Given the description of an element on the screen output the (x, y) to click on. 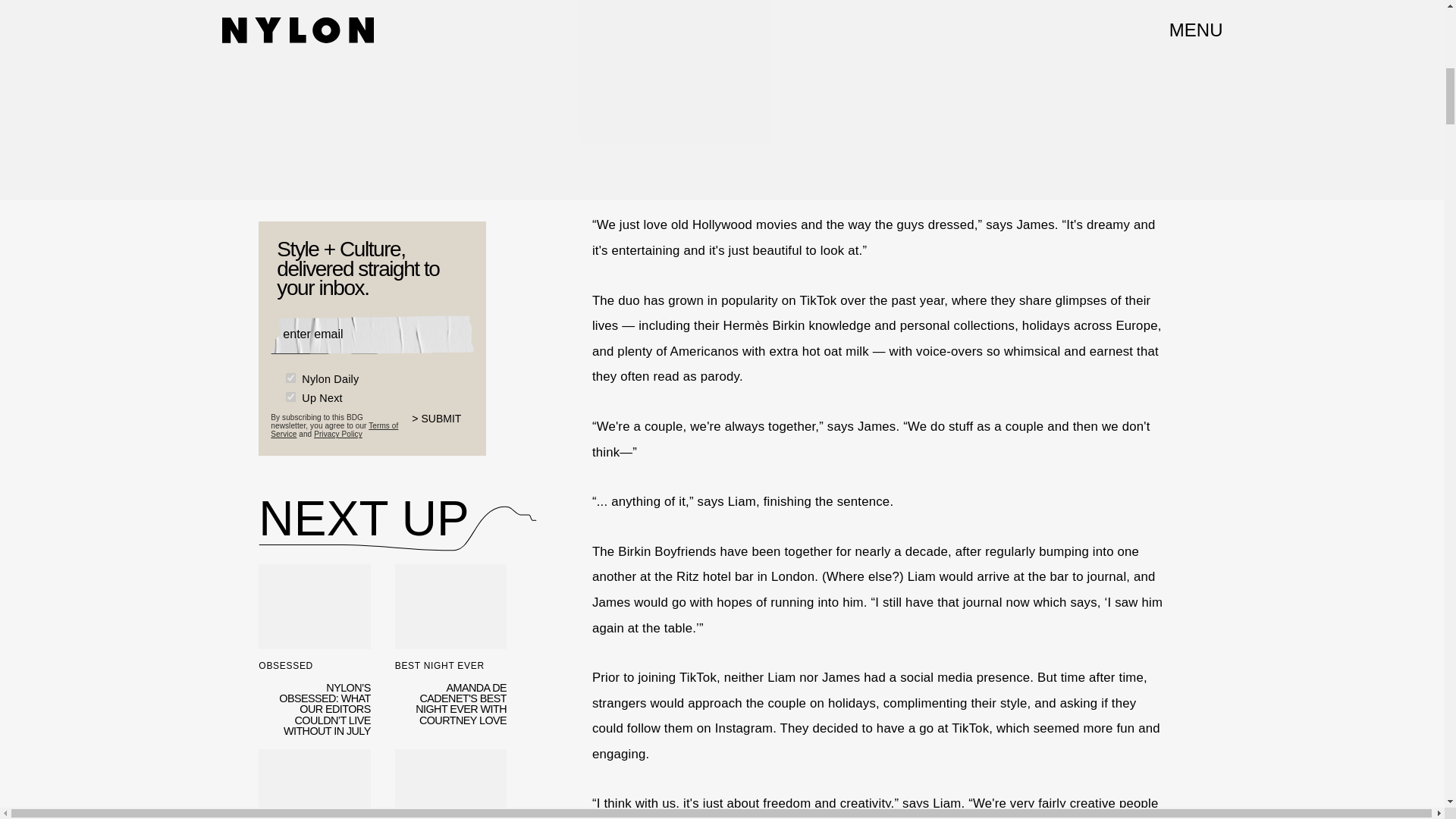
SUBMIT (443, 425)
THE ART OF HARD-LAUNCHING A FRIEND BREAKUP (450, 784)
Privacy Policy (338, 433)
Terms of Service (333, 428)
